Given the description of an element on the screen output the (x, y) to click on. 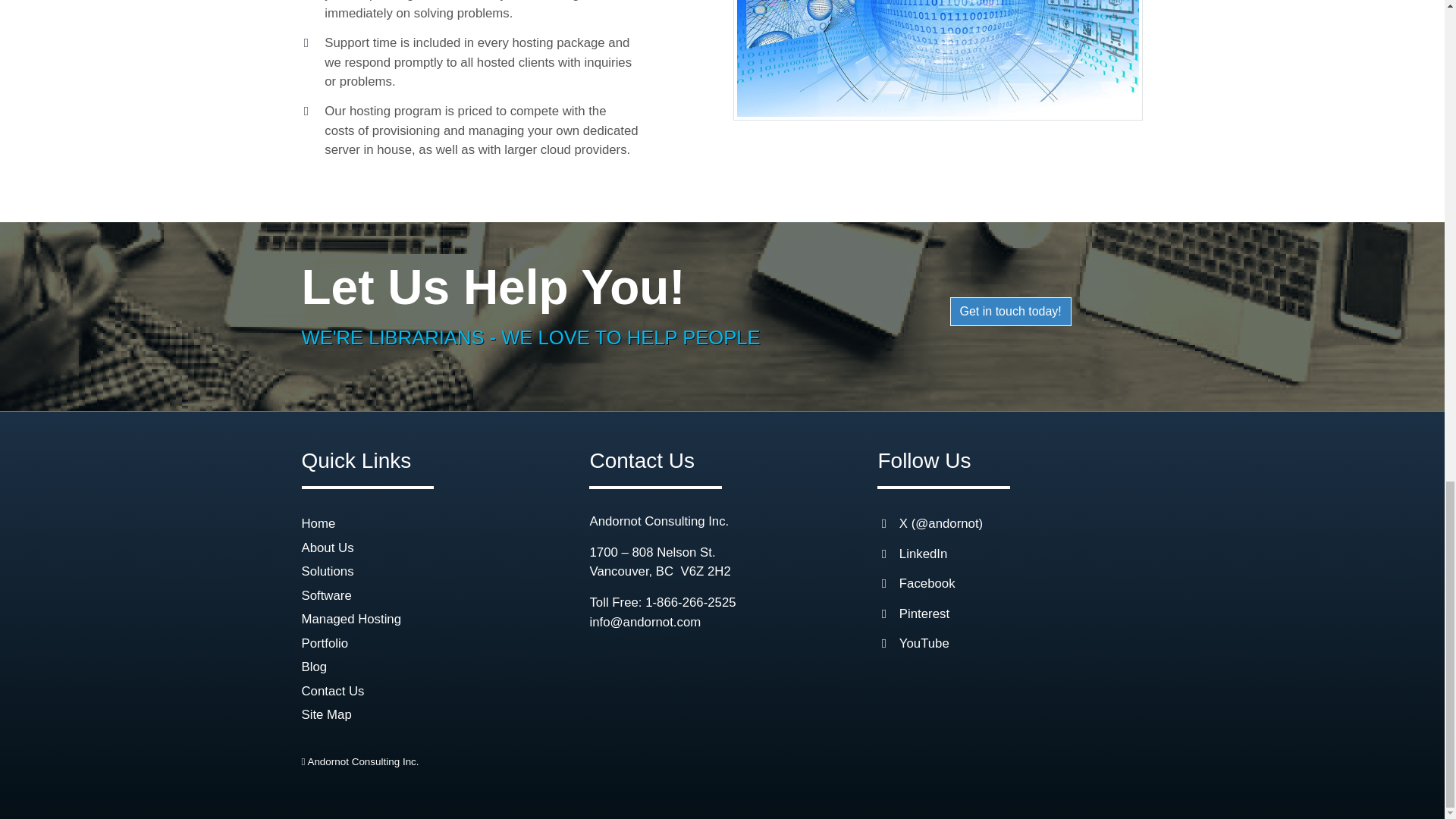
Follow Andornot on YouTube (924, 643)
Follow Andornot on Facebook (927, 583)
Follow Andornot on LinkedIn (923, 554)
Follow Andornot on Pinterest (924, 613)
